Given the description of an element on the screen output the (x, y) to click on. 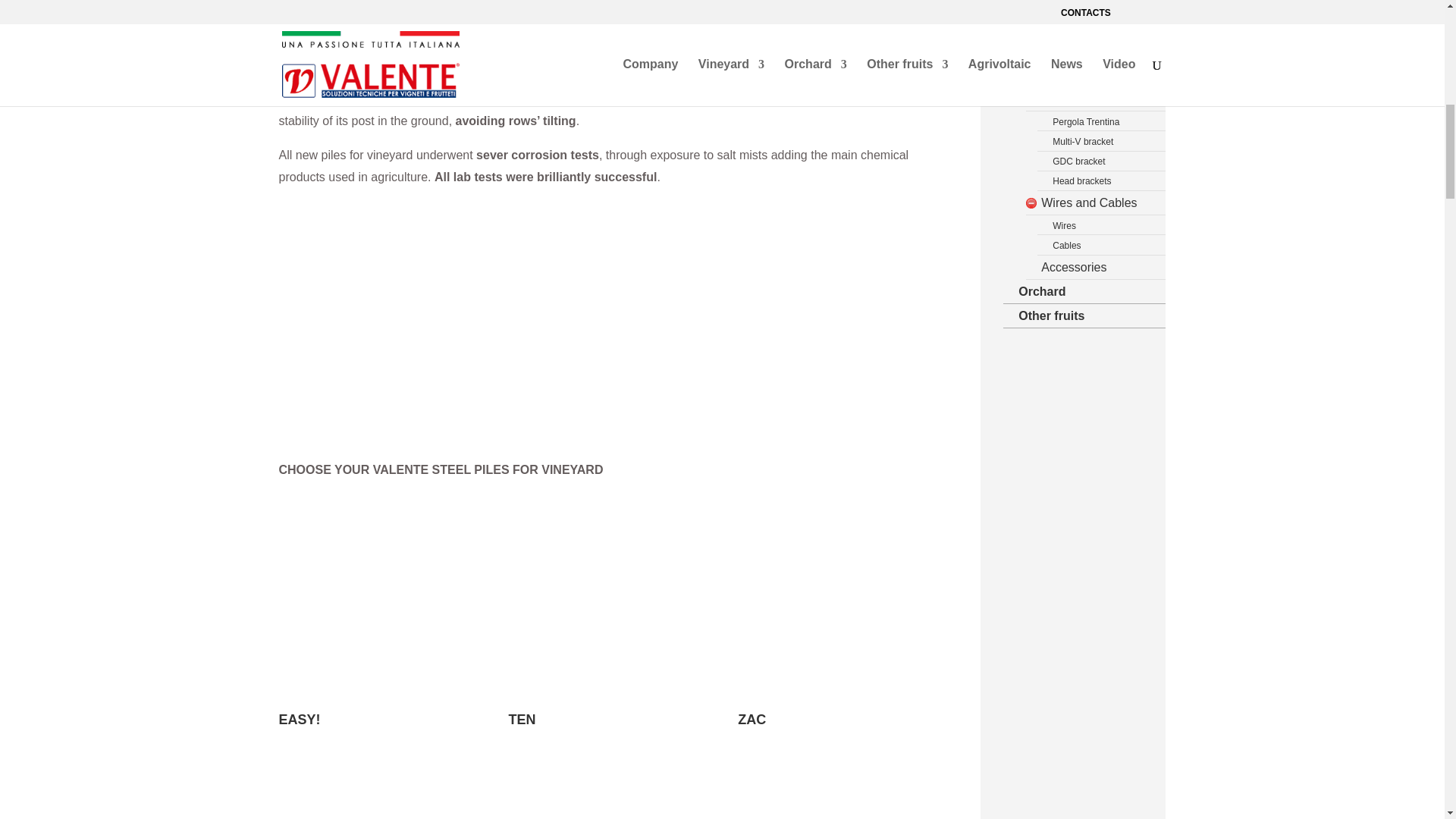
EASY! (376, 719)
TEN (604, 719)
ZAC (834, 719)
